Given the description of an element on the screen output the (x, y) to click on. 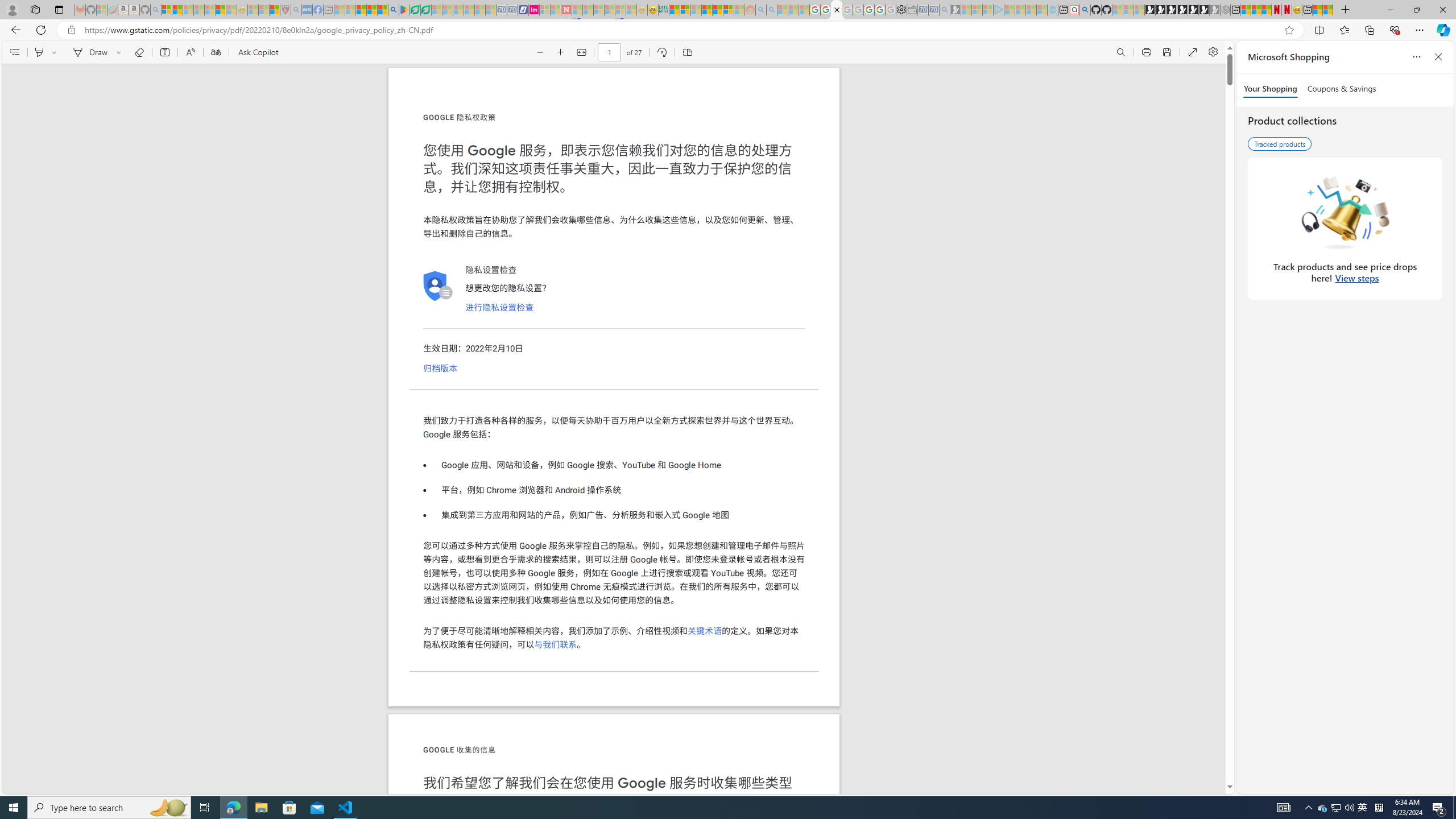
Settings and more (1212, 52)
